Given the description of an element on the screen output the (x, y) to click on. 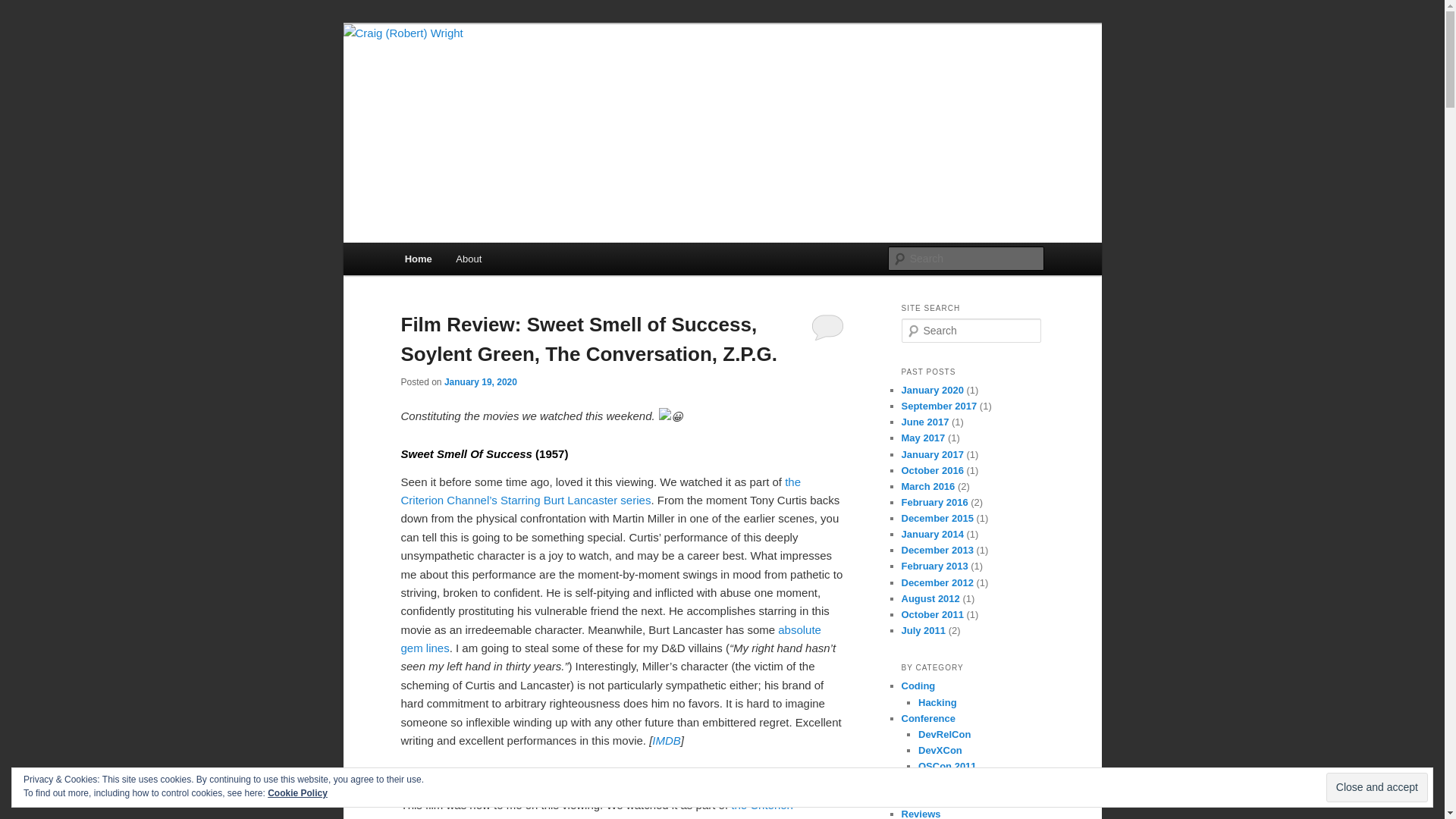
Search (24, 8)
absolute gem lines (610, 638)
About (468, 258)
January 19, 2020 (480, 380)
5:36 pm (480, 380)
Close and accept (1377, 787)
Home (418, 258)
IMDB (666, 739)
